Given the description of an element on the screen output the (x, y) to click on. 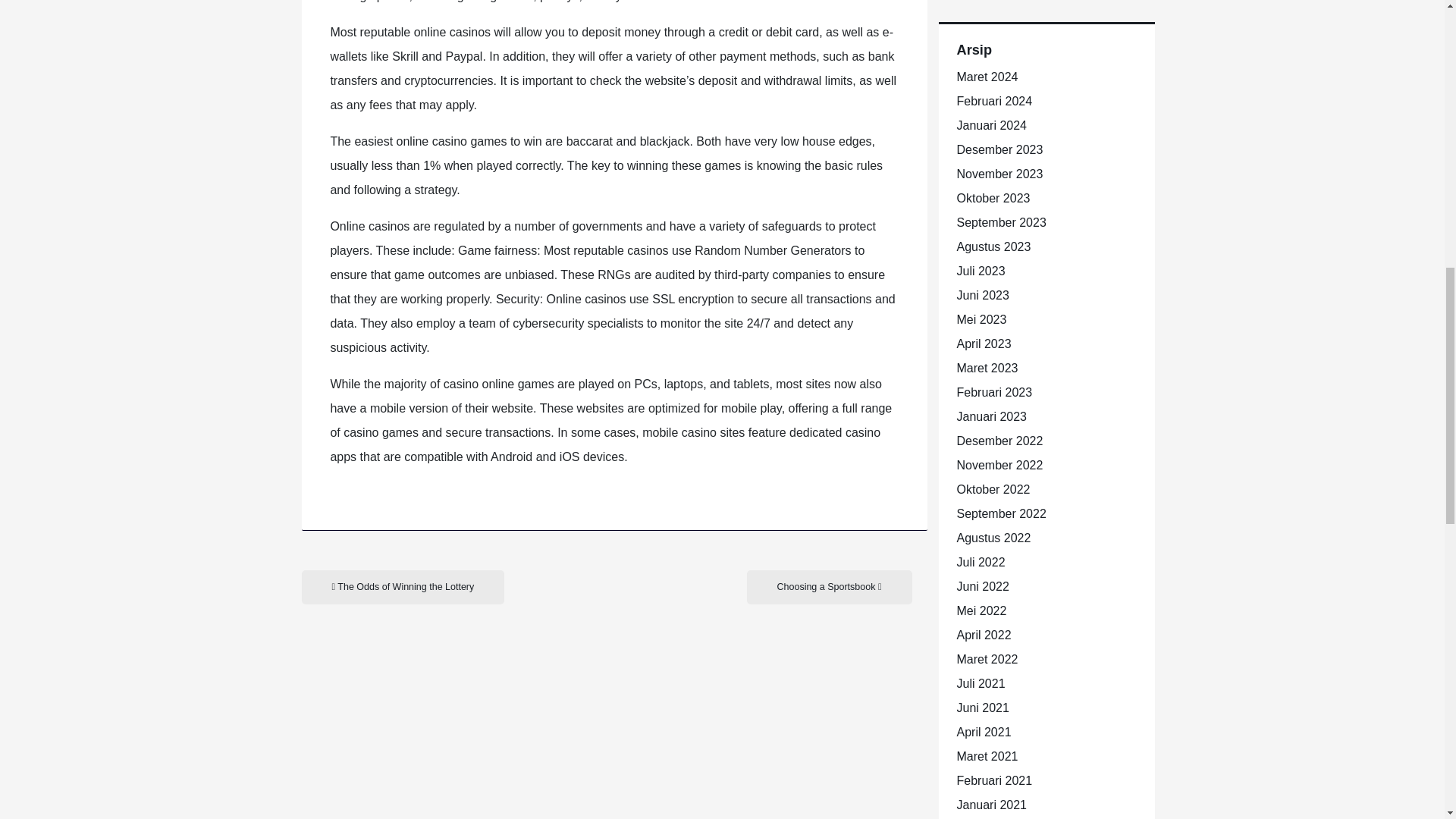
Januari 2023 (991, 416)
Januari 2024 (991, 124)
Maret 2024 (986, 76)
Agustus 2022 (993, 537)
November 2023 (999, 173)
Februari 2023 (994, 391)
April 2023 (983, 343)
Oktober 2022 (993, 489)
Juli 2023 (981, 270)
Desember 2022 (999, 440)
